Given the description of an element on the screen output the (x, y) to click on. 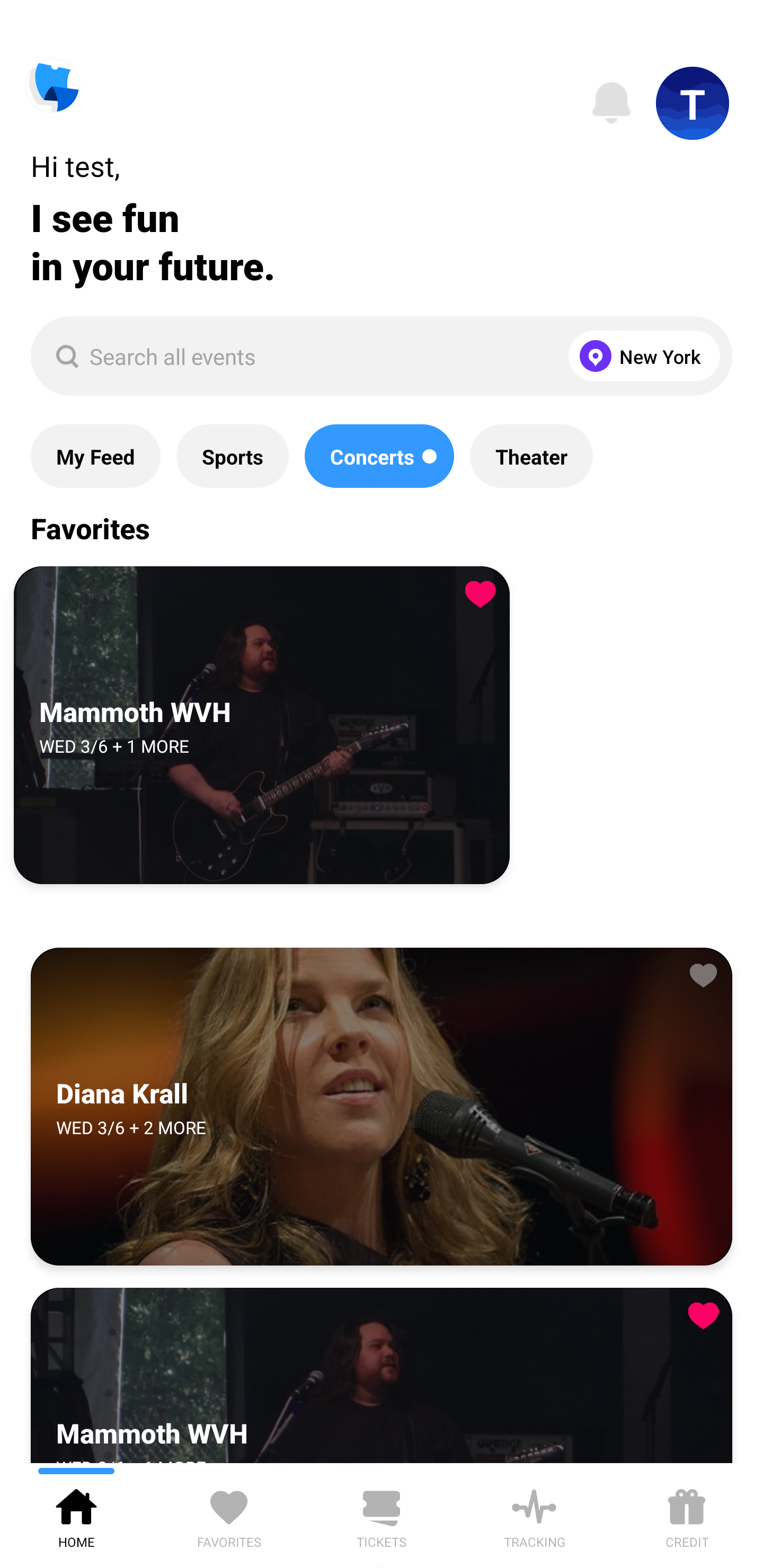
T (692, 103)
New York (640, 355)
My Feed (95, 455)
Sports (232, 455)
Concerts (378, 455)
Theater (531, 455)
HOME (76, 1515)
FAVORITES (228, 1515)
TICKETS (381, 1515)
TRACKING (533, 1515)
CREDIT (686, 1515)
